Given the description of an element on the screen output the (x, y) to click on. 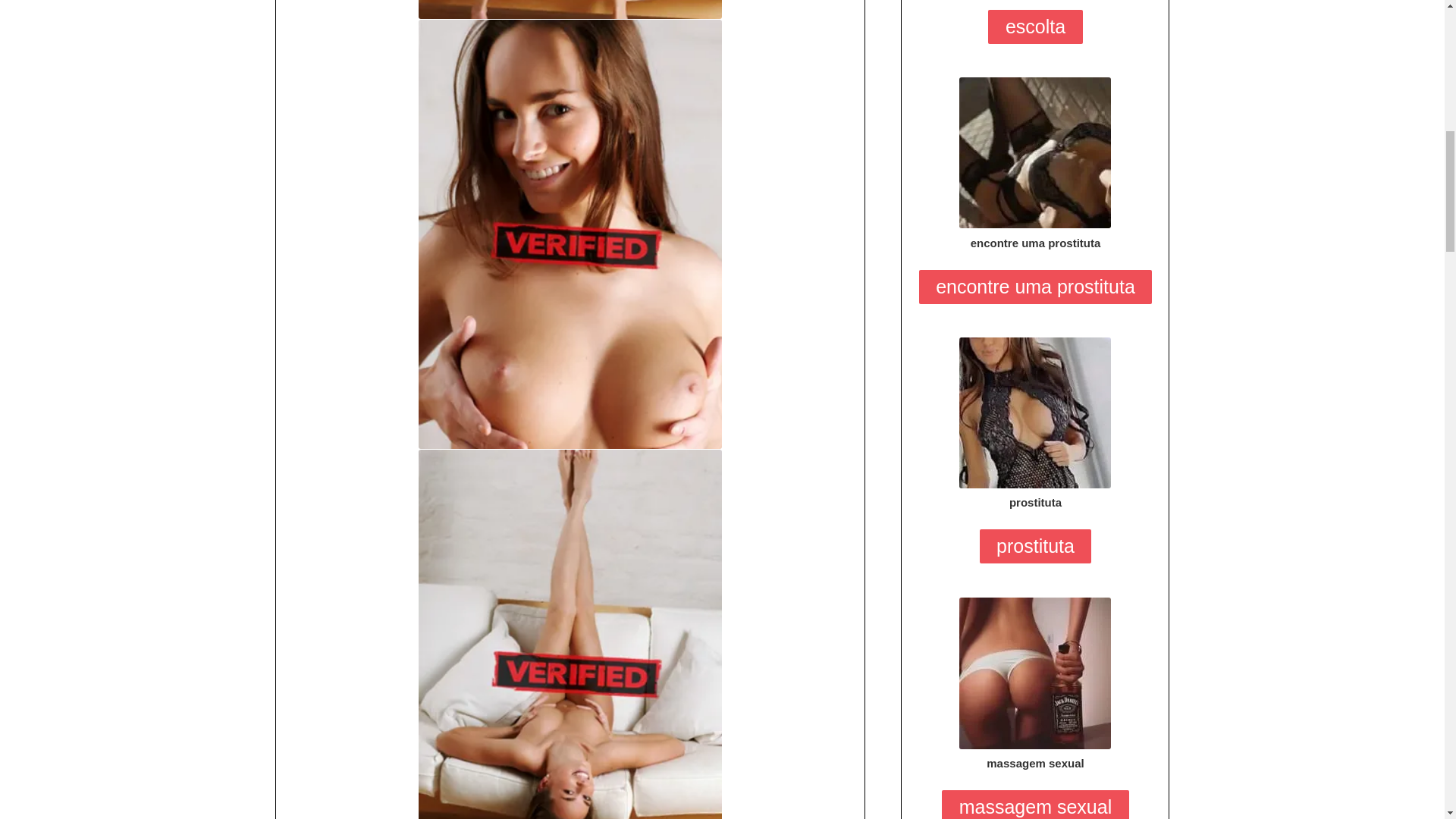
Meet (1034, 673)
Meet (1034, 152)
Meet (1034, 412)
